Given the description of an element on the screen output the (x, y) to click on. 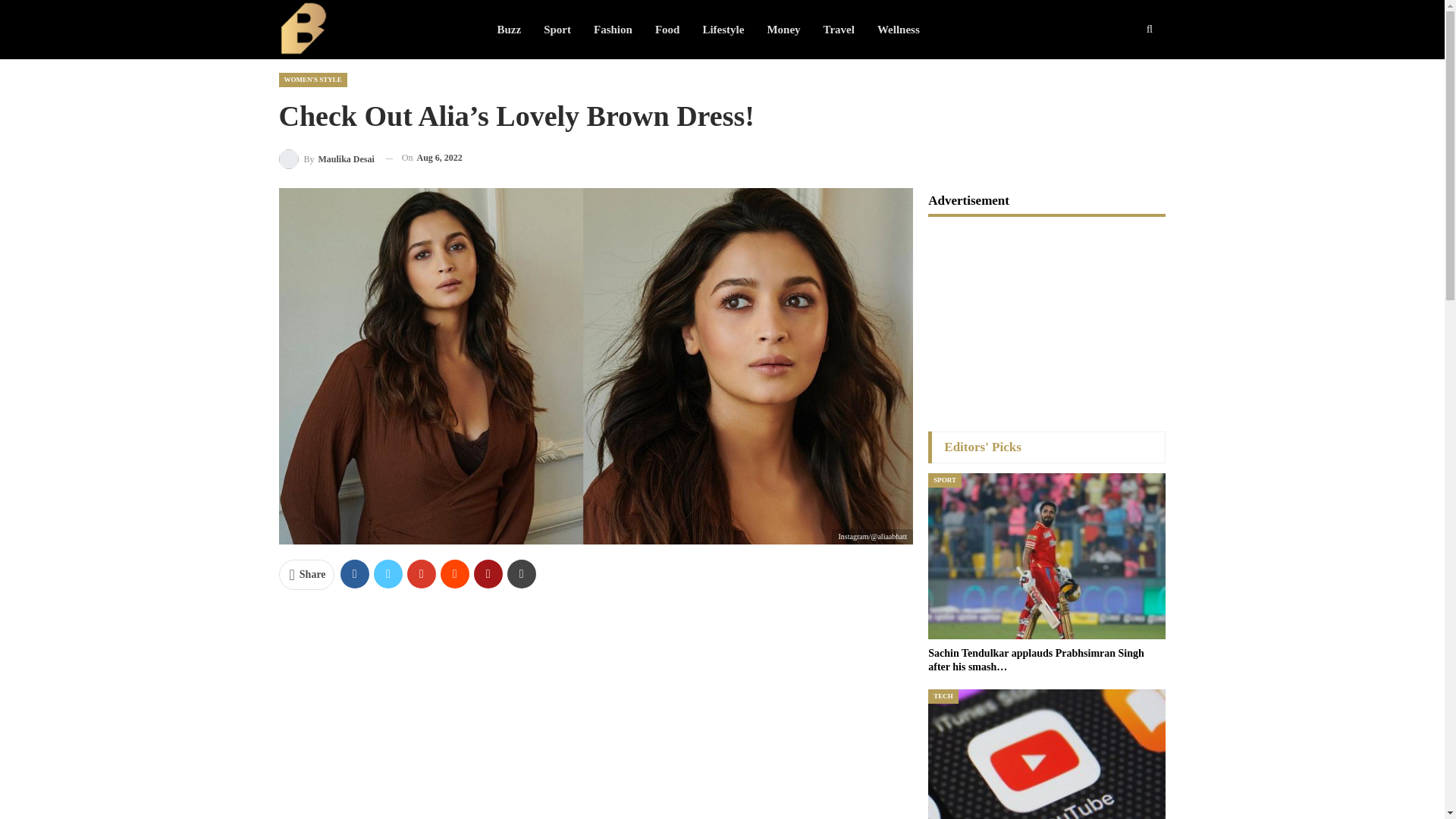
Money (782, 29)
By Maulika Desai (326, 158)
WOMEN'S STYLE (313, 79)
Fashion (612, 29)
Browse Author Articles (326, 158)
Wellness (898, 29)
Travel (839, 29)
Lifestyle (722, 29)
